Given the description of an element on the screen output the (x, y) to click on. 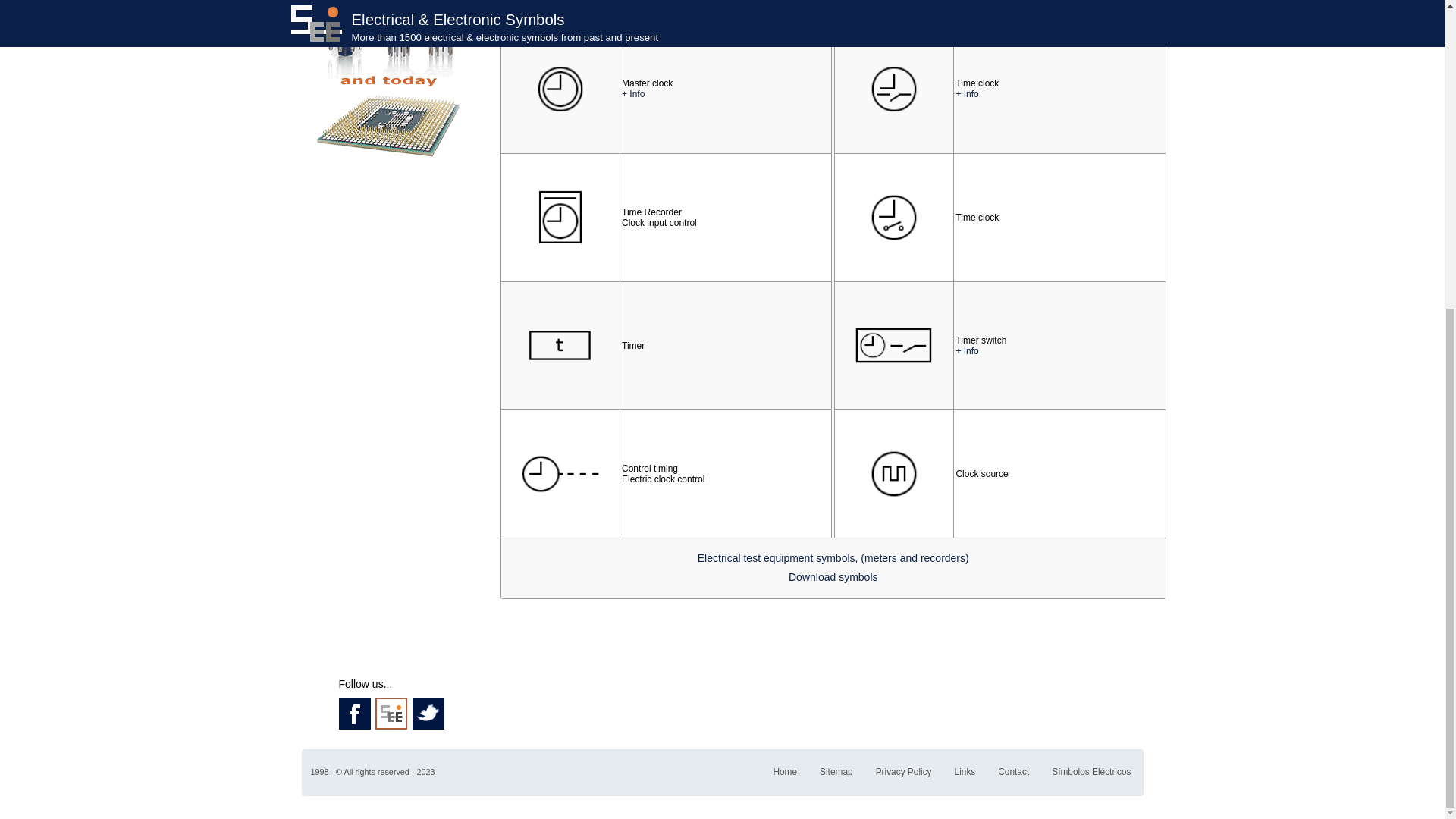
Contact (1014, 769)
Home (784, 769)
Sitemap (836, 769)
Links (965, 769)
Download symbols (833, 576)
Privacy Policy (903, 769)
